Given the description of an element on the screen output the (x, y) to click on. 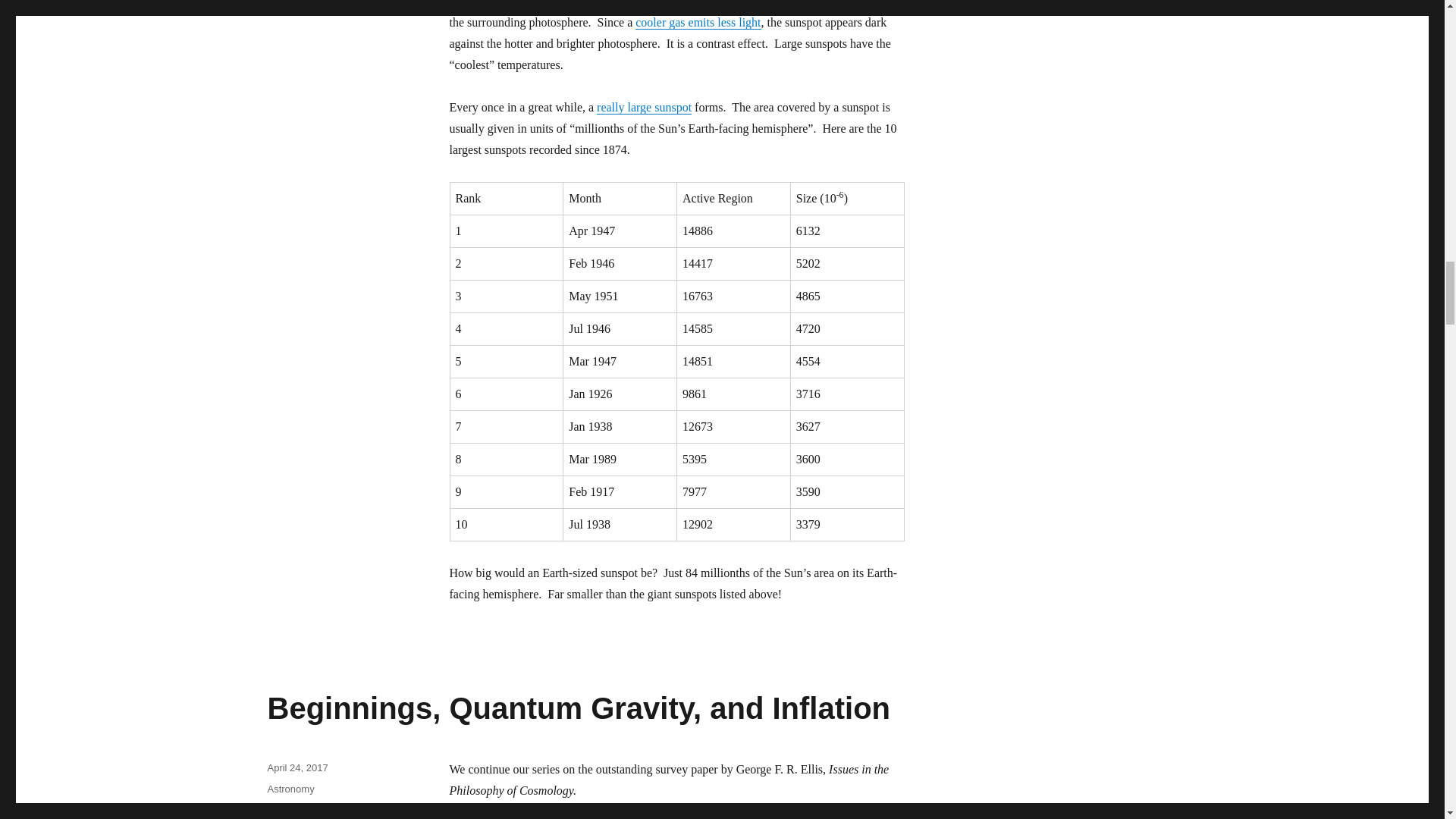
April 24, 2017 (296, 767)
really large sunspot (643, 106)
cooler gas emits less light (697, 21)
Beginnings, Quantum Gravity, and Inflation (577, 707)
